Given the description of an element on the screen output the (x, y) to click on. 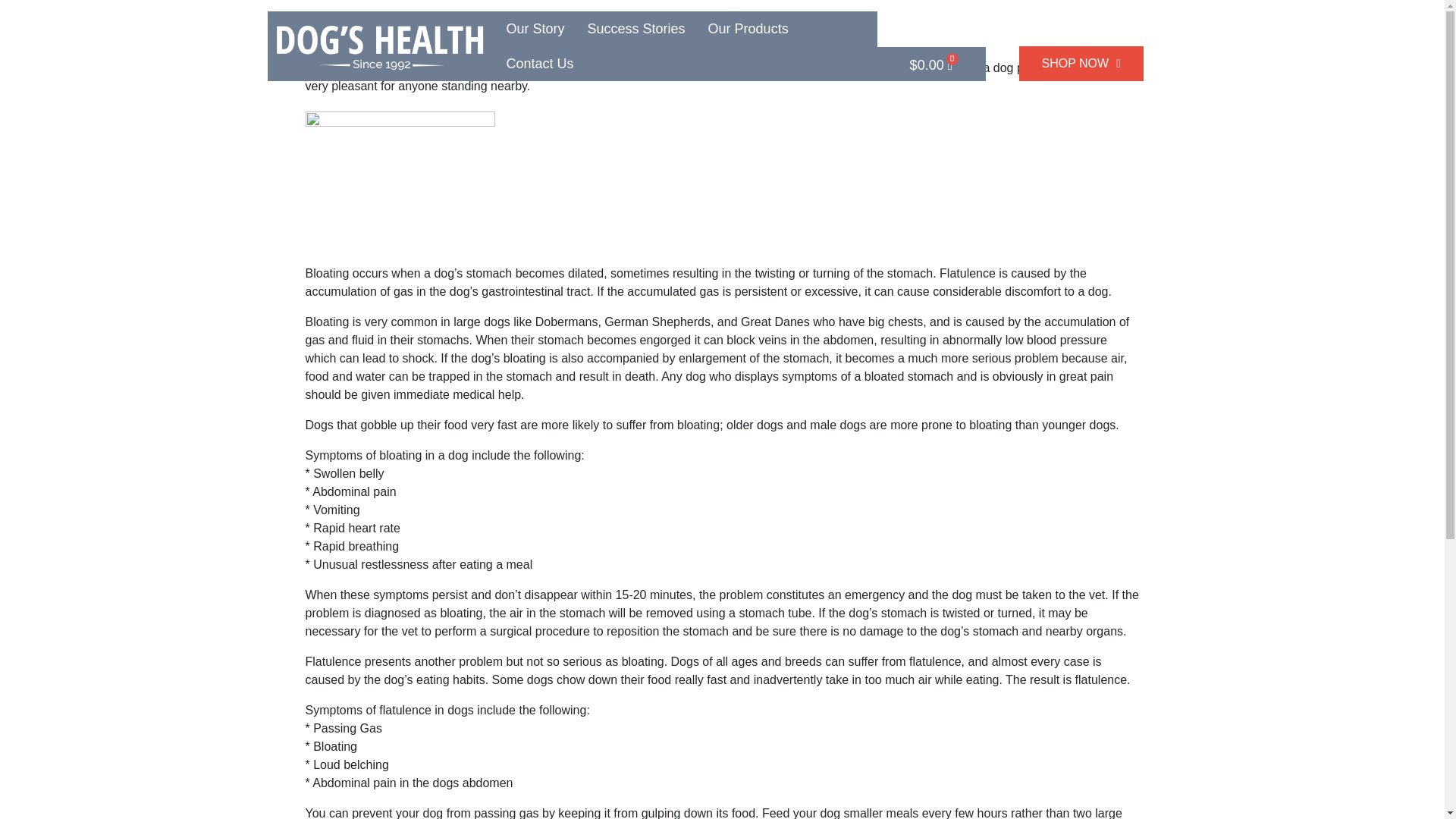
Success Stories (636, 28)
Our Story (535, 28)
Dog Digestion Problems: Bloating and Flatulence (568, 31)
SHOP NOW (1080, 63)
Dog Digestion Problems: Bloating and Flatulence (568, 31)
Contact Us (540, 63)
Our Products (748, 28)
